Given the description of an element on the screen output the (x, y) to click on. 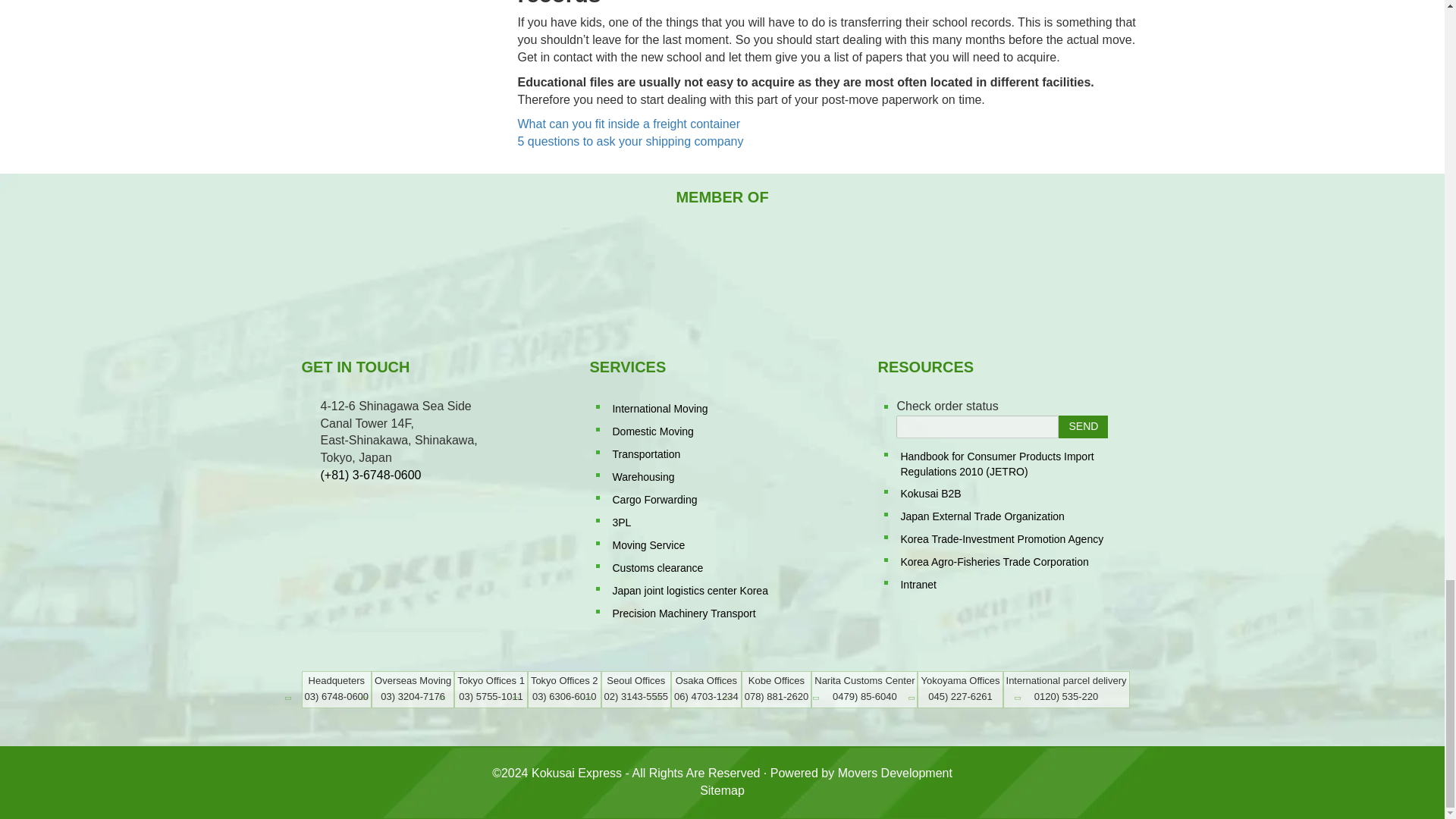
SEND (1083, 426)
5 questions to ask your shipping company (629, 141)
What can you fit inside a freight container (627, 123)
